Given the description of an element on the screen output the (x, y) to click on. 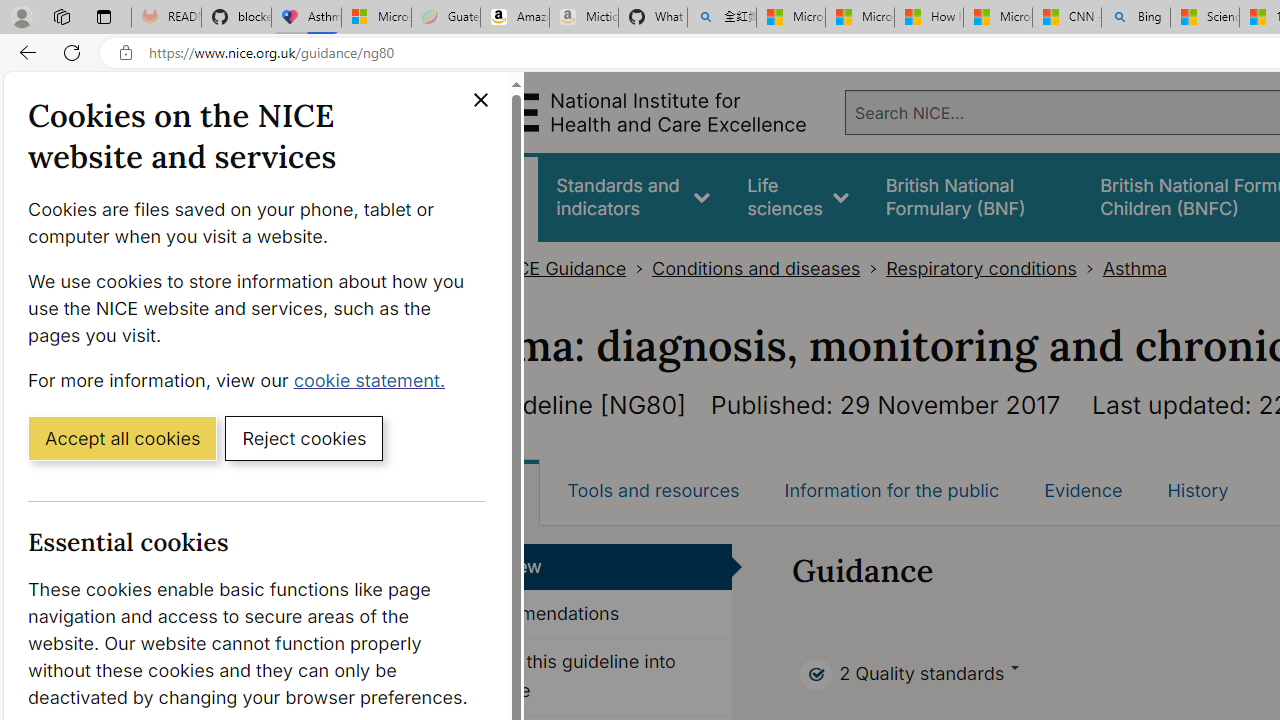
Evidence (1083, 490)
Conditions and diseases (756, 268)
Asthma (1134, 268)
CNN - MSN (1066, 17)
Home> (459, 268)
History (1197, 490)
Information for the public (891, 490)
